Given the description of an element on the screen output the (x, y) to click on. 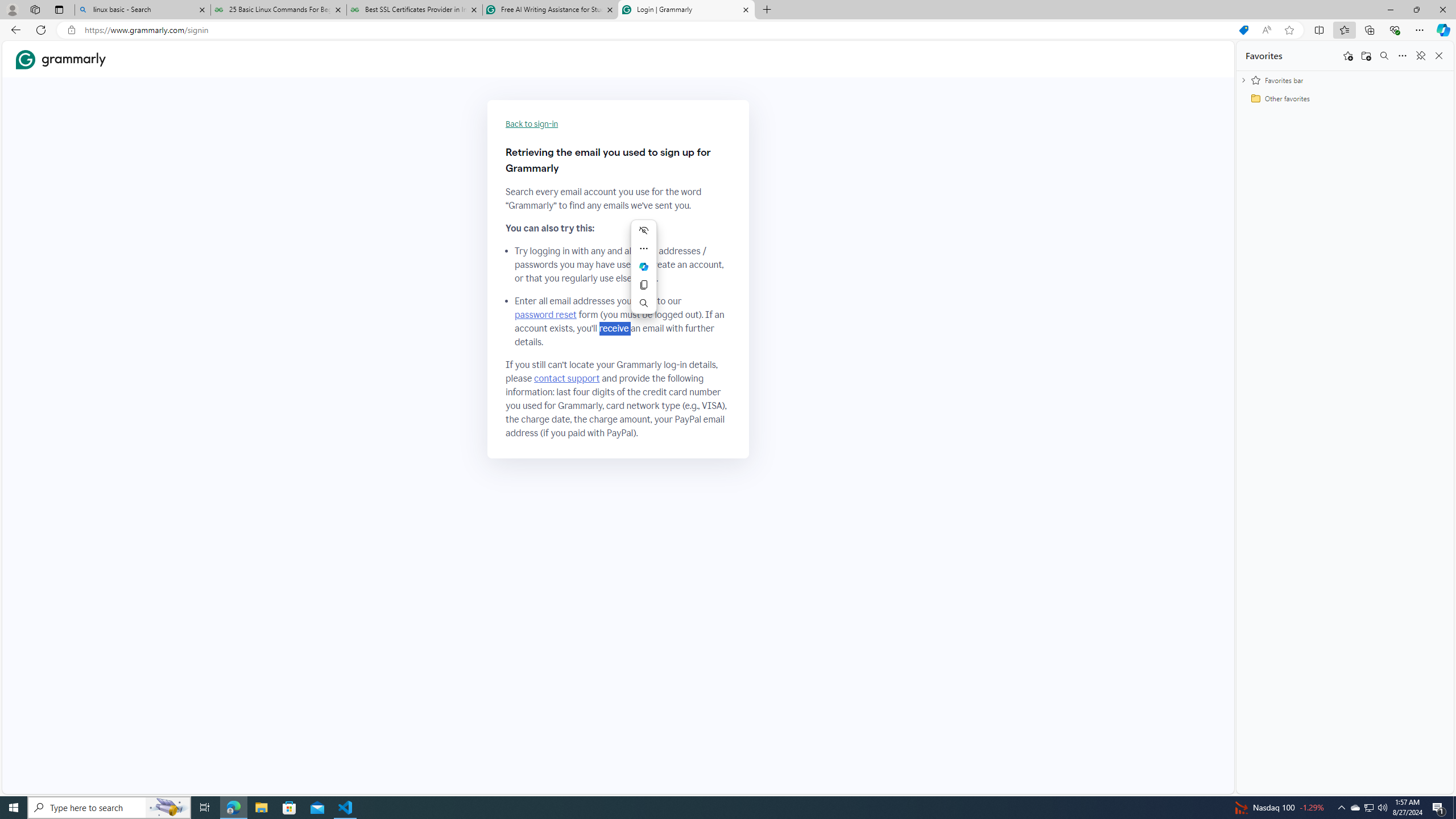
password reset (545, 314)
Grammarly Home (61, 59)
contact support (566, 378)
